Given the description of an element on the screen output the (x, y) to click on. 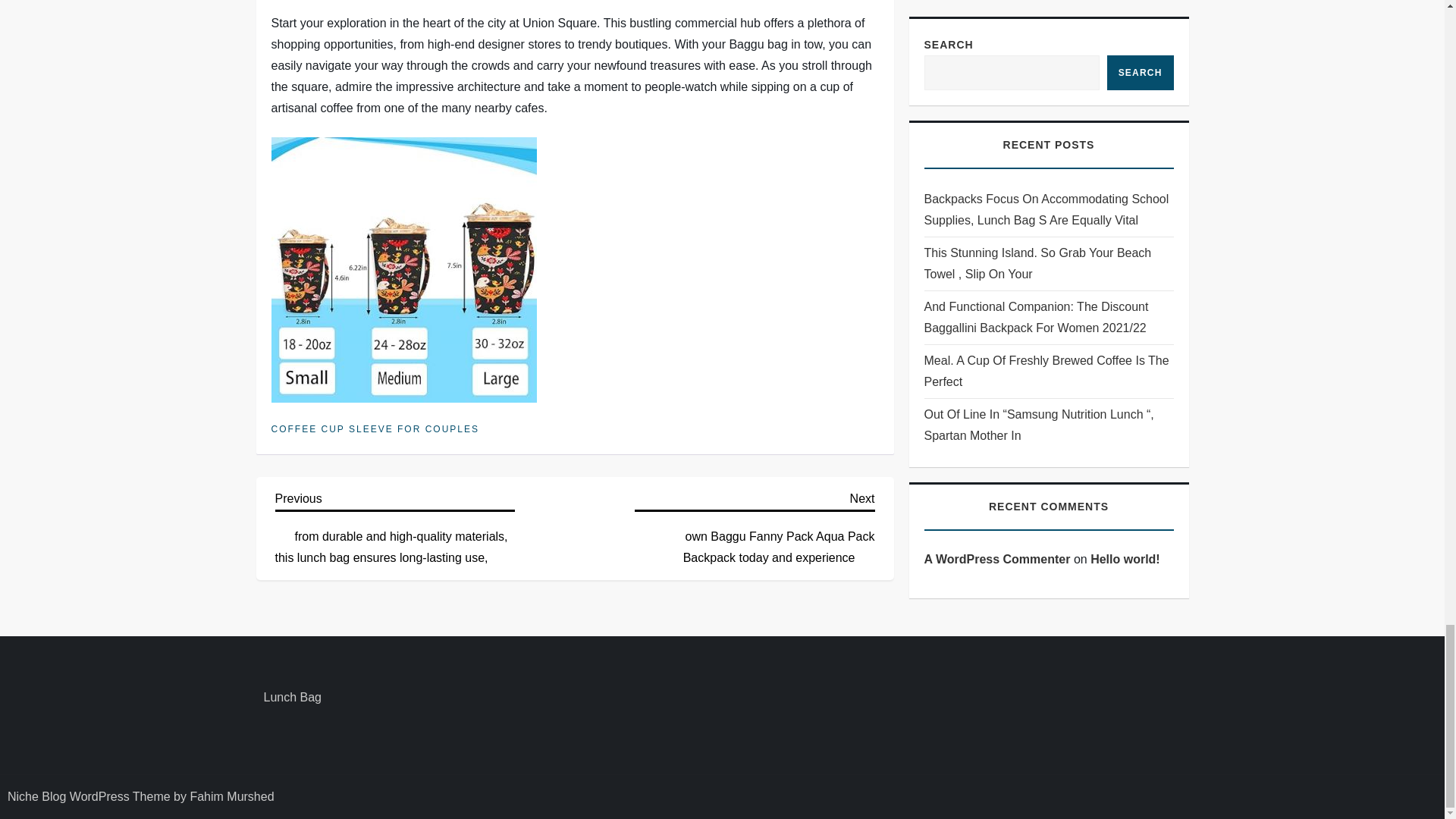
COFFEE CUP SLEEVE FOR COUPLES (375, 429)
Lunch Bag (292, 697)
Fahim Murshed (231, 796)
